Given the description of an element on the screen output the (x, y) to click on. 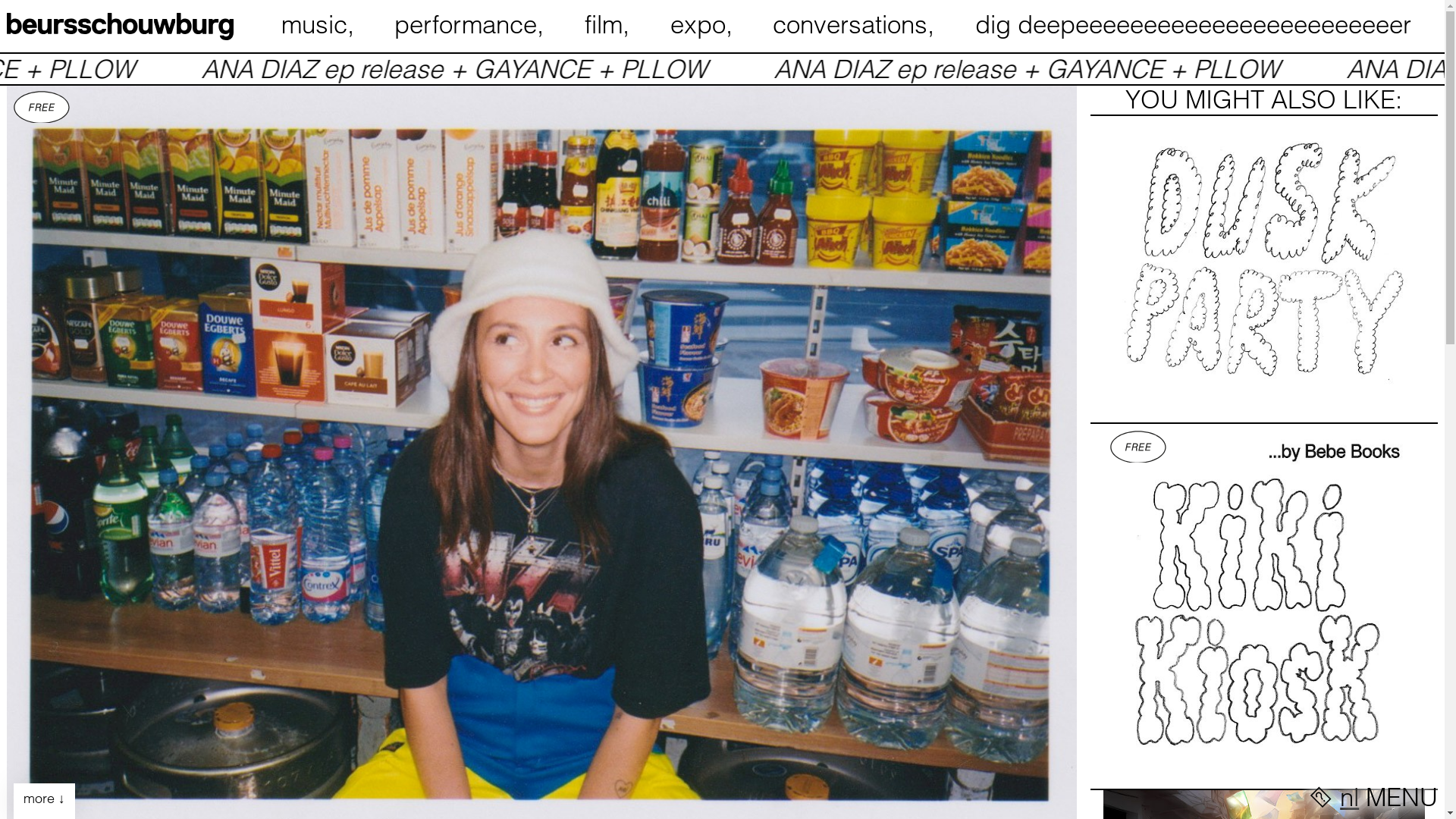
performance Element type: text (472, 24)
film Element type: text (610, 24)
dig deepeeeeeeeeeeeeeeeeeeeeeeeer Element type: text (1206, 24)
expo Element type: text (704, 24)
conversations Element type: text (856, 24)
music Element type: text (320, 24)
